Given the description of an element on the screen output the (x, y) to click on. 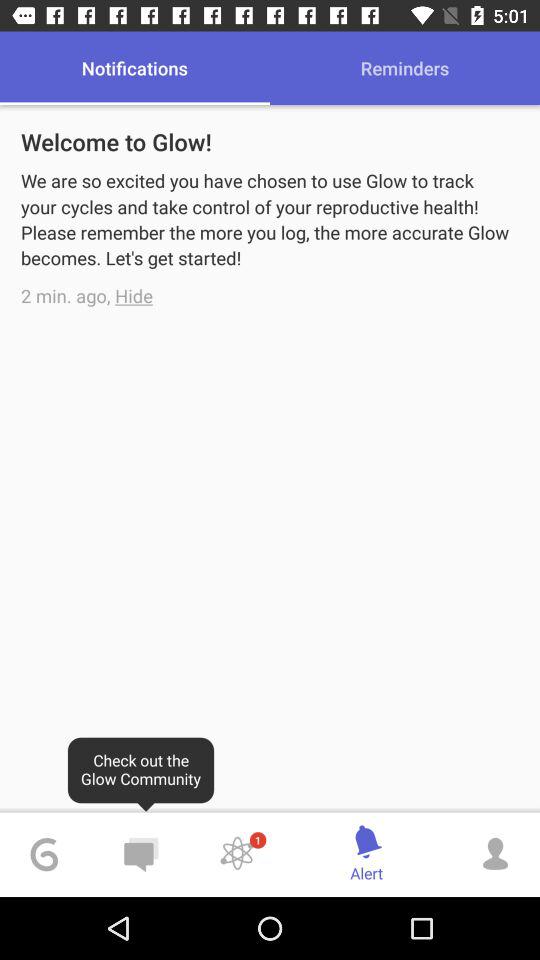
select the item below we are so (133, 295)
